Given the description of an element on the screen output the (x, y) to click on. 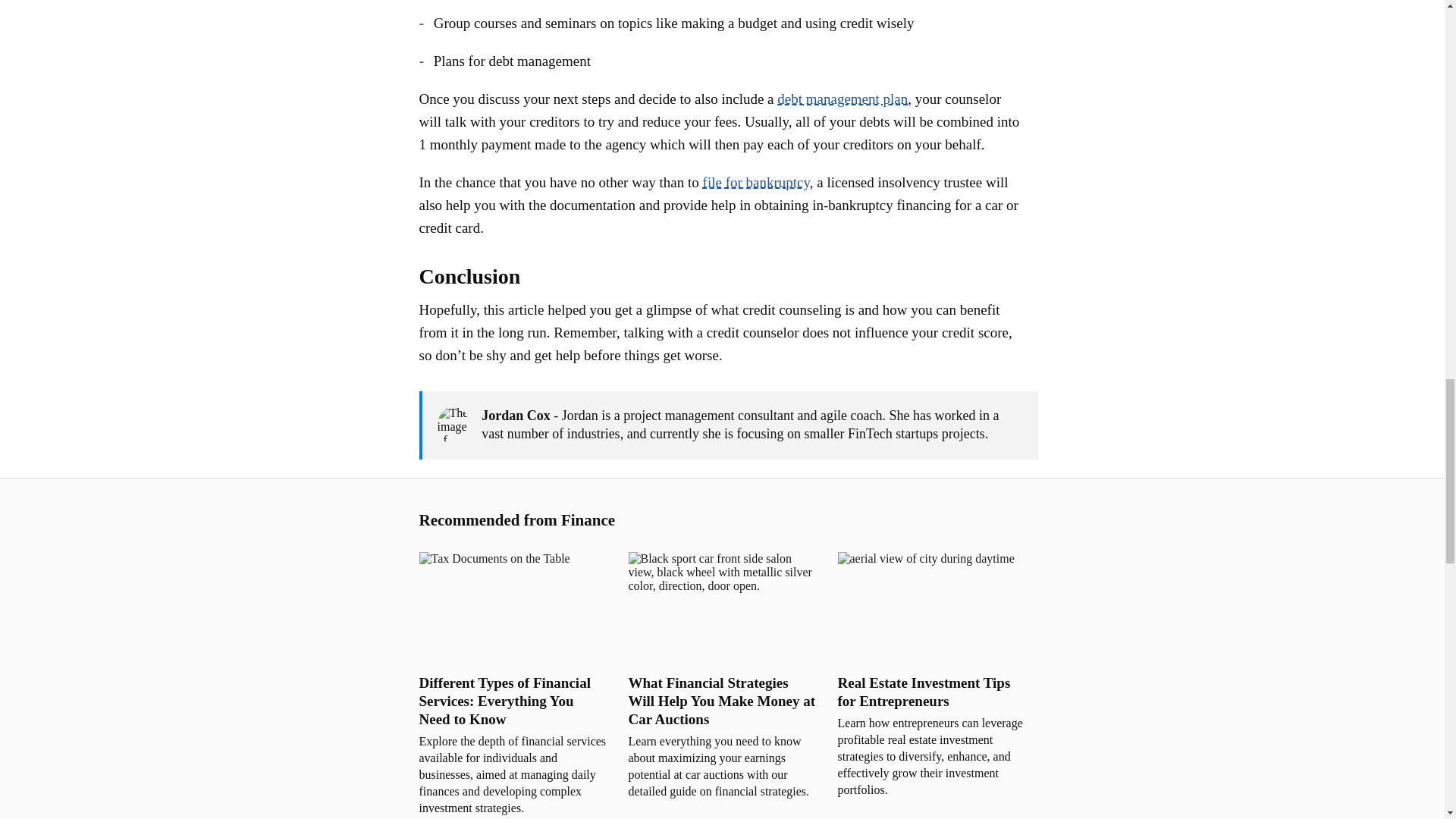
file for bankruptcy (756, 182)
debt management plan (842, 98)
